Given the description of an element on the screen output the (x, y) to click on. 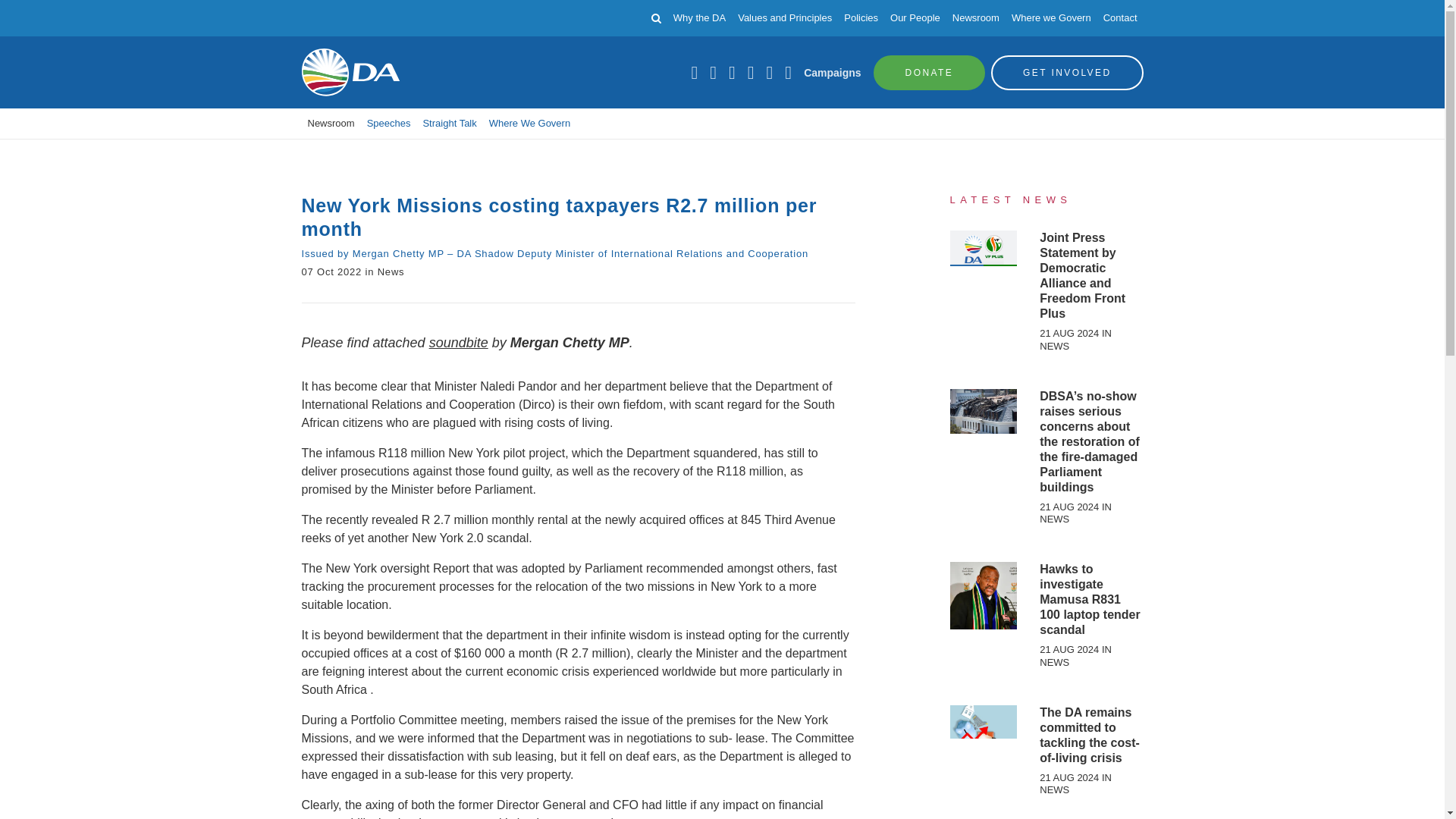
Where We Govern (529, 122)
Newsroom (331, 122)
DONATE (929, 71)
GET INVOLVED (1066, 70)
Why the DA (698, 17)
GET INVOLVED (1066, 71)
Policies (860, 17)
Campaigns (831, 72)
Get Involved (1066, 70)
soundbite (458, 342)
